Given the description of an element on the screen output the (x, y) to click on. 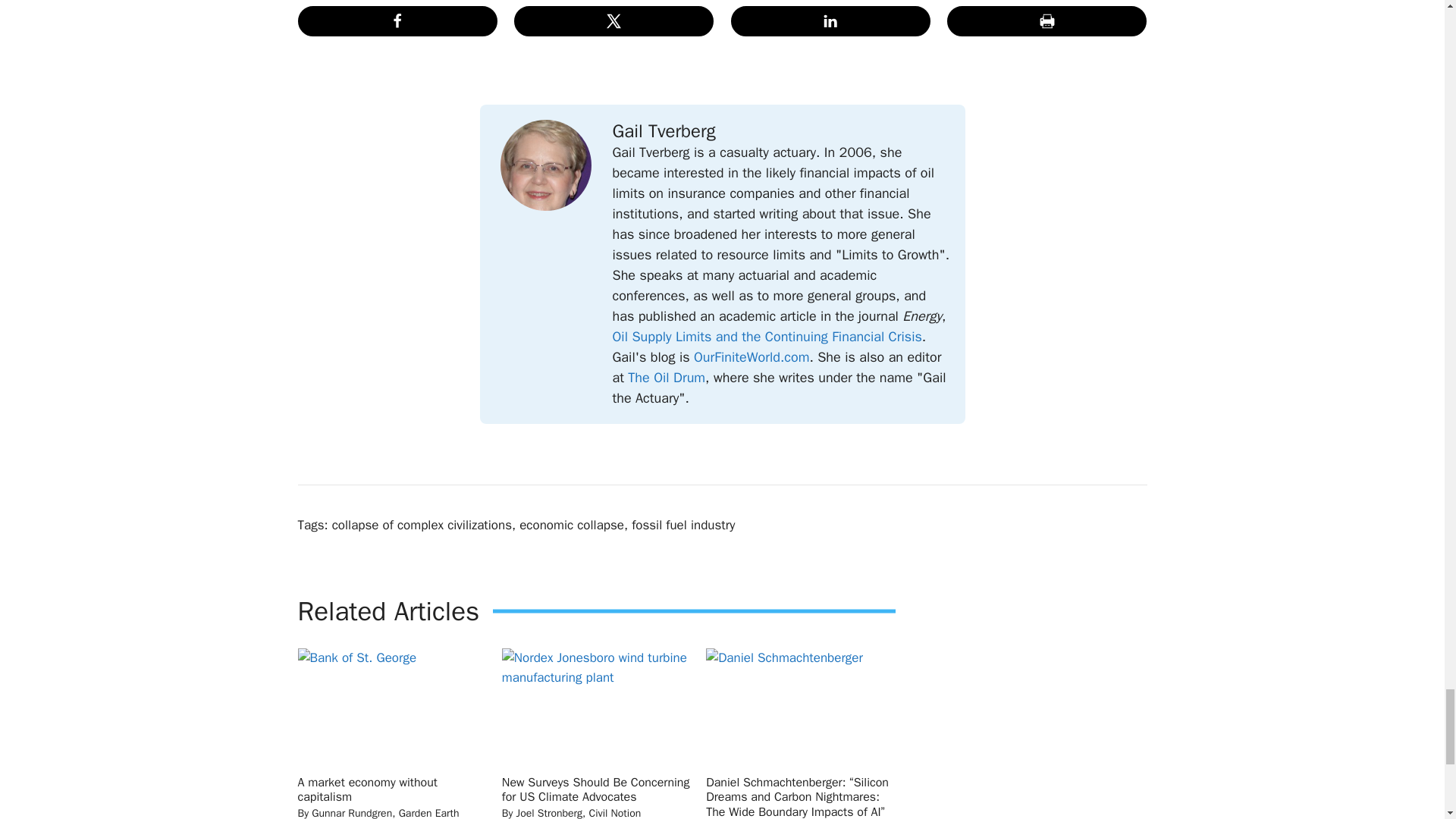
Share on X (613, 20)
Print this webpage (1047, 20)
Share on Facebook (396, 20)
Share on LinkedIn (830, 20)
